Given the description of an element on the screen output the (x, y) to click on. 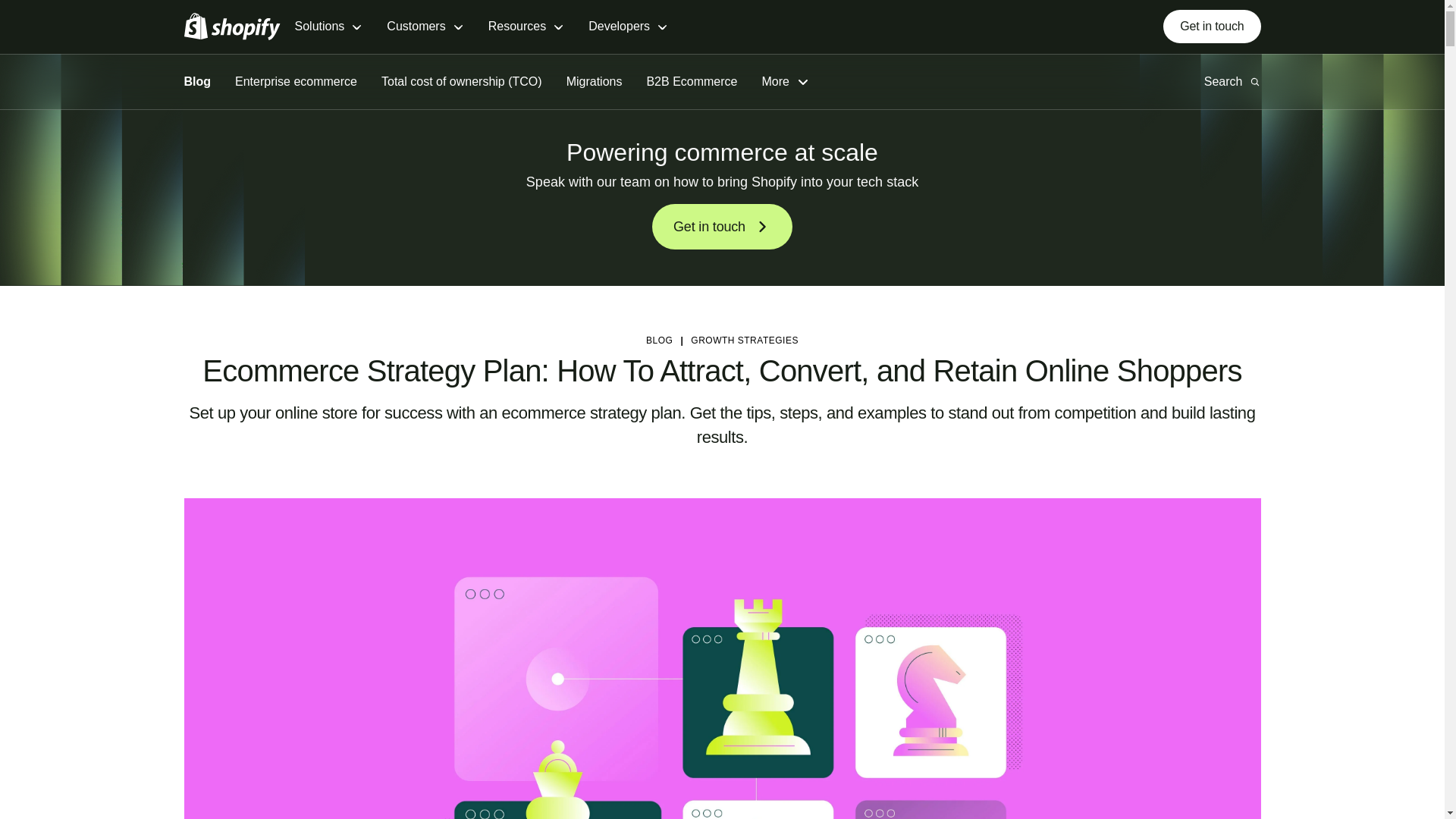
Resources (525, 27)
Customers (425, 27)
Developers (628, 27)
Solutions (328, 27)
